Given the description of an element on the screen output the (x, y) to click on. 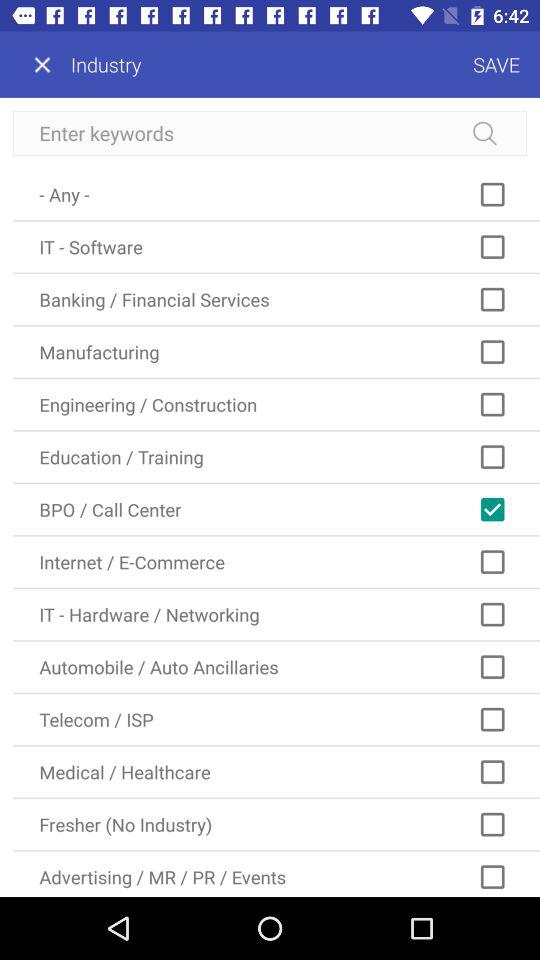
go to search keywords (269, 133)
